Given the description of an element on the screen output the (x, y) to click on. 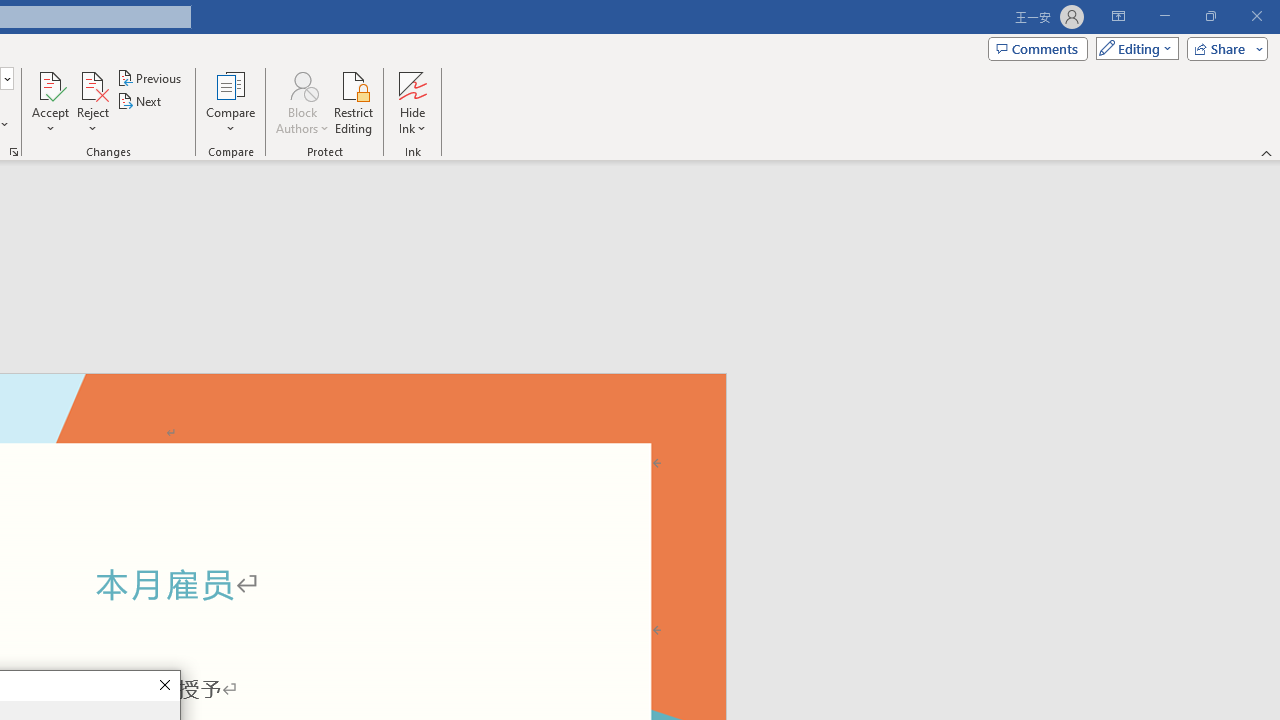
Restrict Editing (353, 102)
Change Tracking Options... (13, 151)
Compare (230, 102)
Reject and Move to Next (92, 84)
Accept and Move to Next (50, 84)
